Given the description of an element on the screen output the (x, y) to click on. 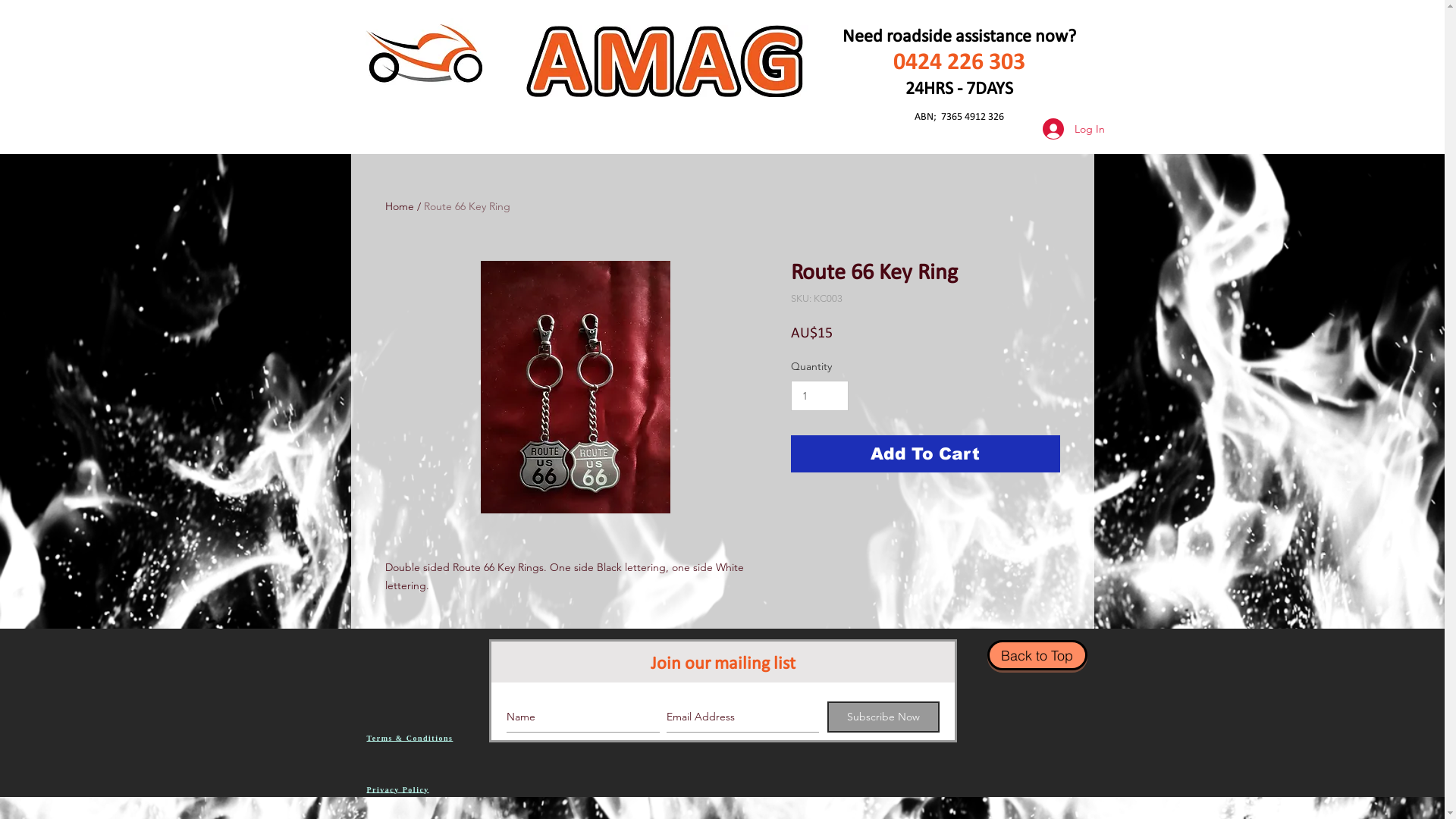
Terms & Conditions Element type: text (410, 738)
Back to Top Element type: text (1037, 655)
Home Element type: text (399, 206)
Add To Cart Element type: text (924, 453)
Route 66 Key Ring Element type: text (466, 206)
Subscribe Now Element type: text (882, 716)
Privacy Policy Element type: text (398, 789)
Log In Element type: text (1063, 128)
